Given the description of an element on the screen output the (x, y) to click on. 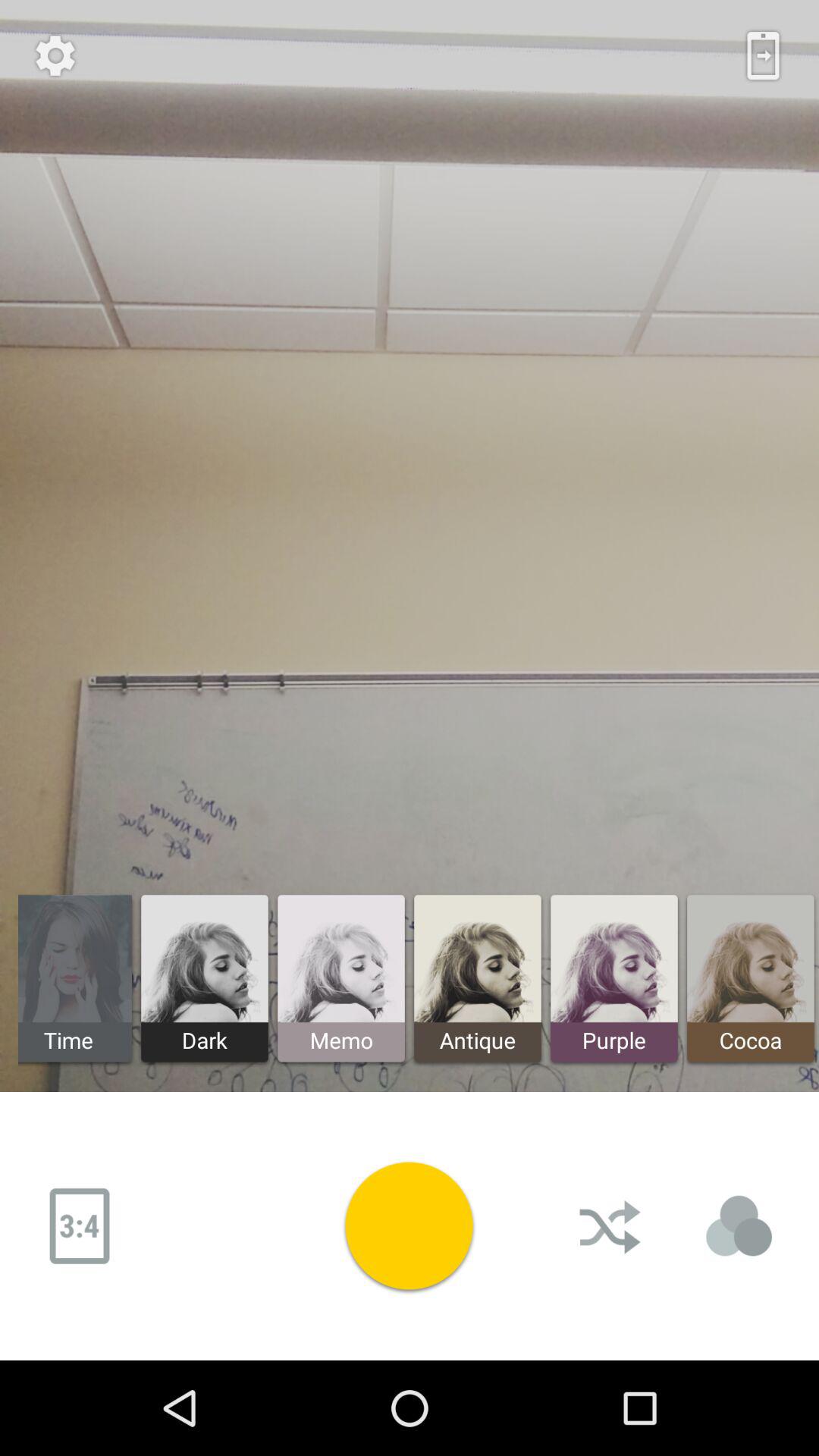
open settings (55, 55)
